Given the description of an element on the screen output the (x, y) to click on. 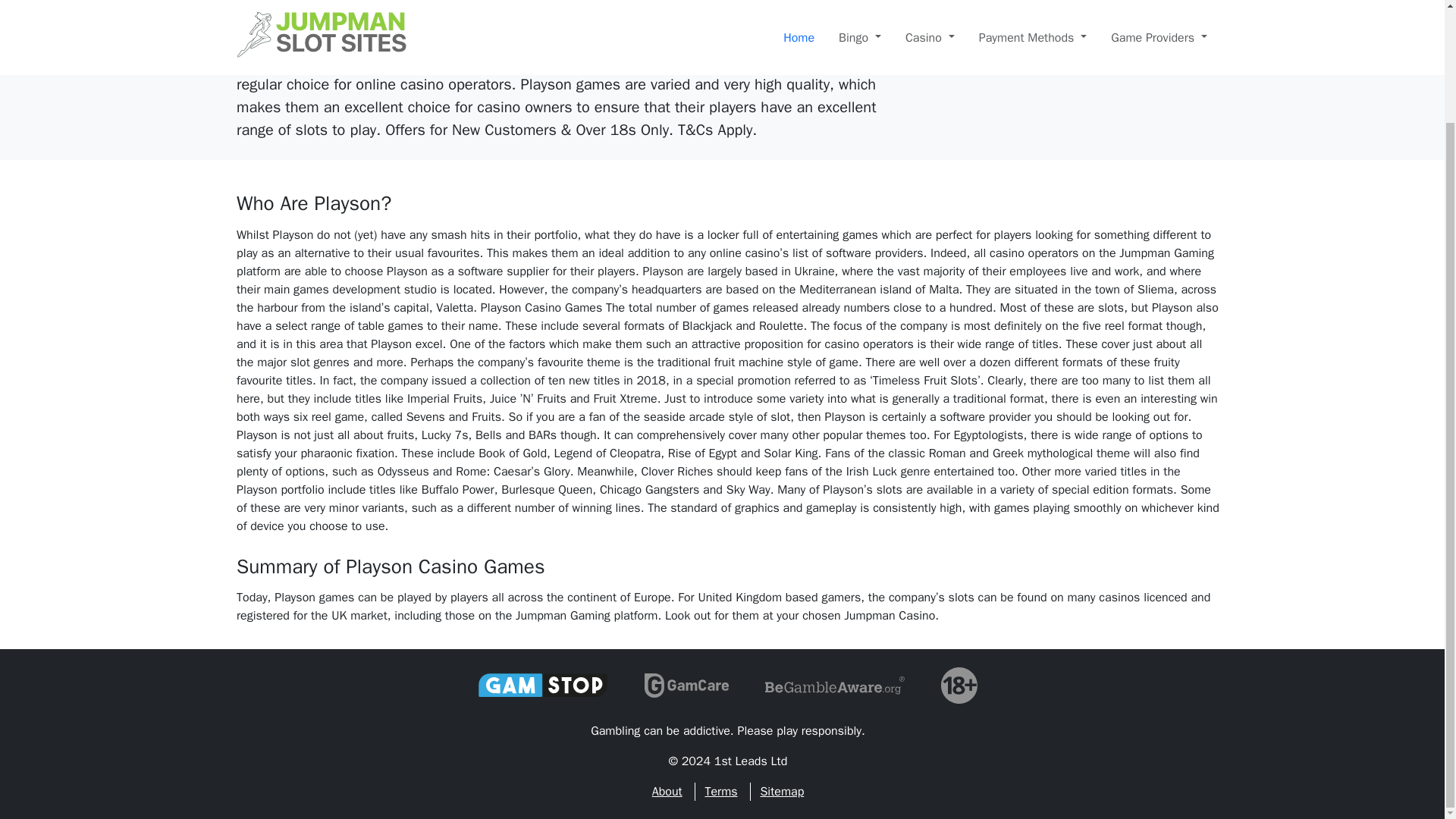
Terms (720, 791)
Sitemap (781, 791)
About (667, 791)
